Given the description of an element on the screen output the (x, y) to click on. 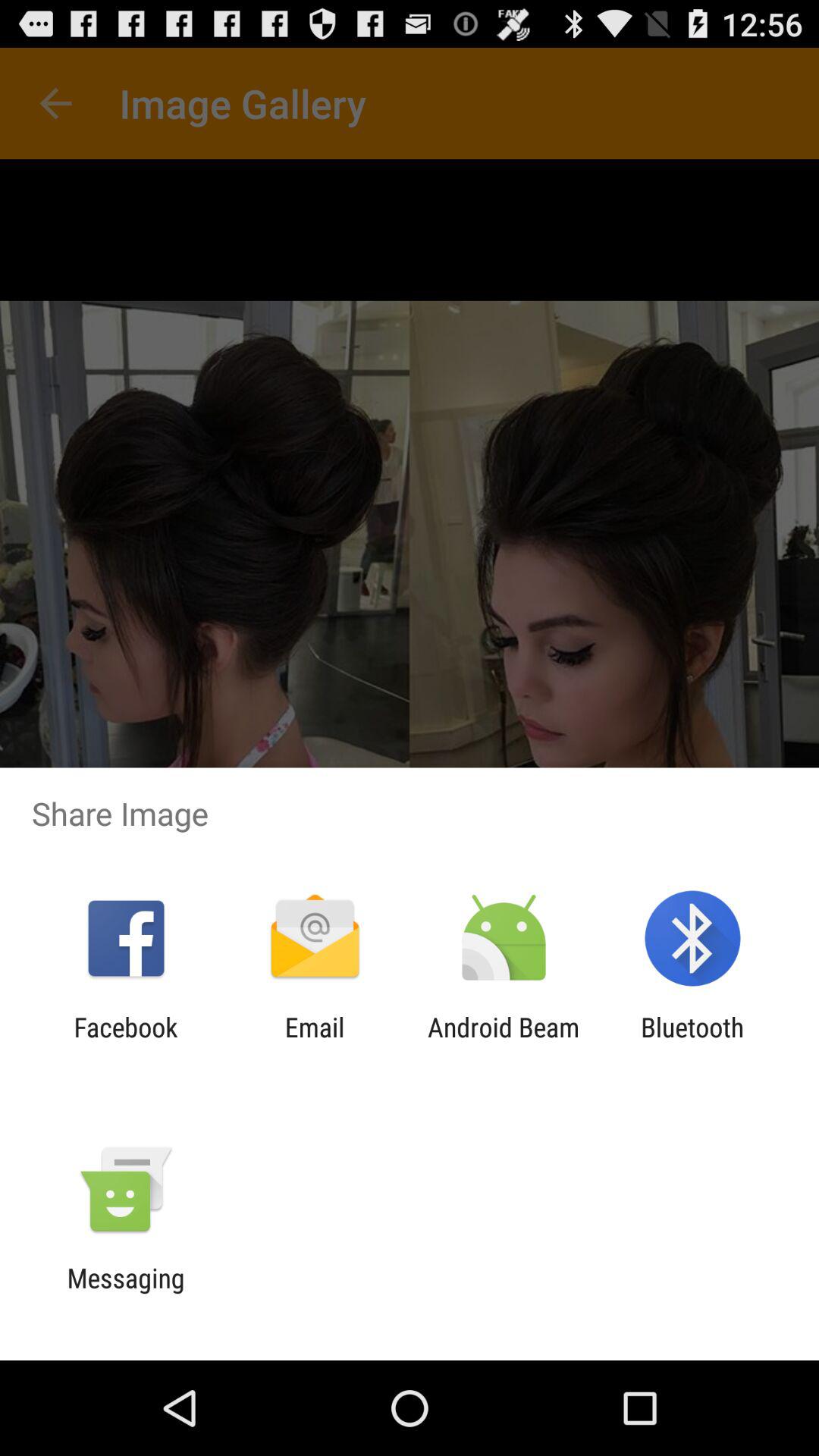
tap the item to the right of the email icon (503, 1042)
